Given the description of an element on the screen output the (x, y) to click on. 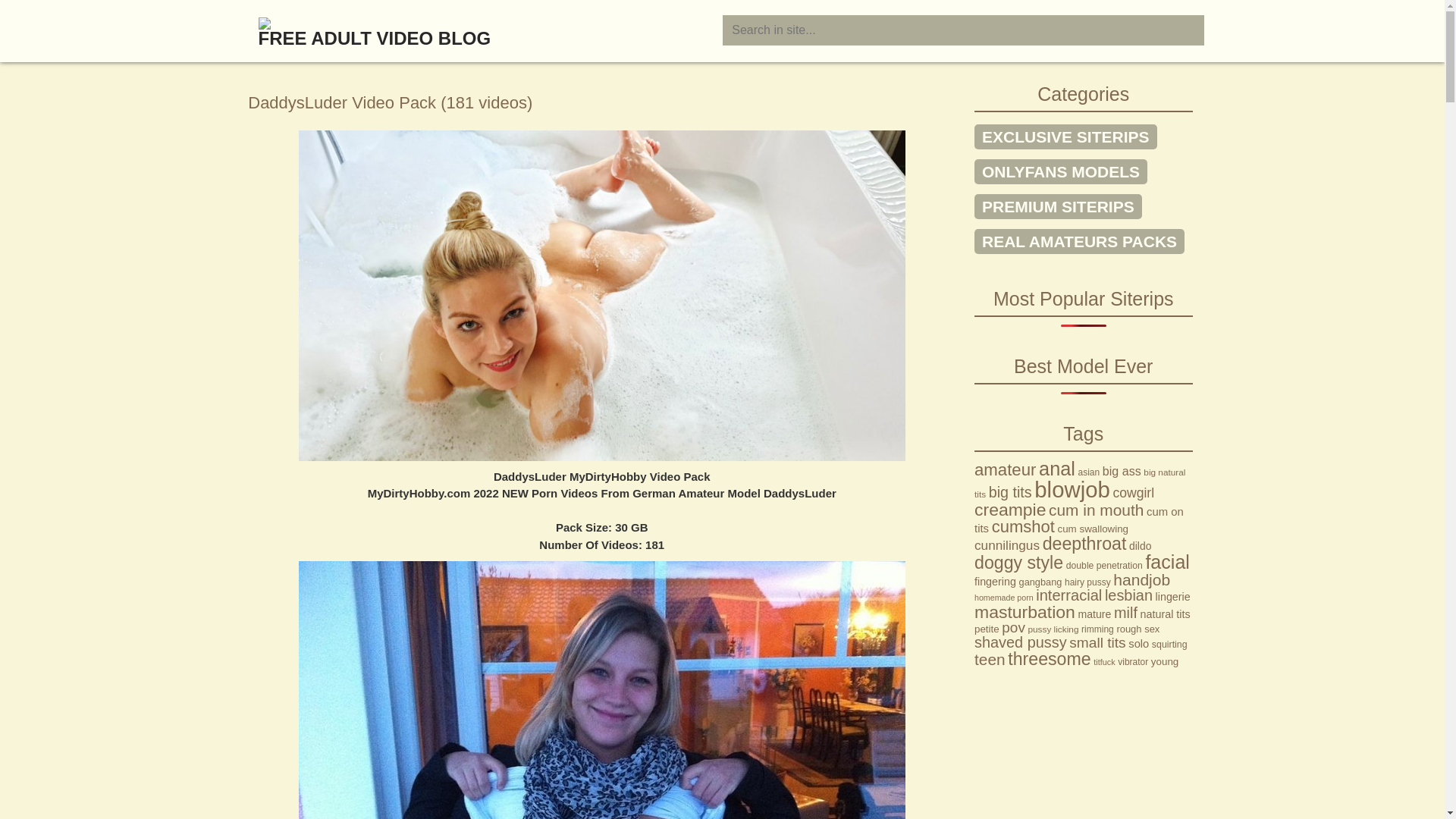
masturbation Element type: text (1024, 611)
solo Element type: text (1138, 643)
cunnilingus Element type: text (1006, 544)
interracial Element type: text (1068, 594)
vibrator Element type: text (1132, 661)
cum on tits Element type: text (1078, 519)
hairy pussy Element type: text (1087, 582)
lingerie Element type: text (1172, 596)
EXCLUSIVE SITERIPS Element type: text (1065, 136)
doggy style Element type: text (1018, 562)
cumshot Element type: text (1022, 526)
big natural tits Element type: text (1079, 483)
homemade porn Element type: text (1003, 597)
mature Element type: text (1093, 614)
gangbang Element type: text (1040, 581)
PREMIUM SITERIPS Element type: text (1058, 206)
threesome Element type: text (1048, 658)
rough sex Element type: text (1137, 628)
cum in mouth Element type: text (1095, 509)
squirting Element type: text (1169, 644)
big ass Element type: text (1121, 470)
asian Element type: text (1089, 472)
cum swallowing Element type: text (1092, 528)
titfuck Element type: text (1103, 661)
petite Element type: text (986, 628)
REAL AMATEURS PACKS Element type: text (1079, 241)
blowjob Element type: text (1071, 489)
lesbian Element type: text (1128, 594)
pov Element type: text (1013, 627)
shaved pussy Element type: text (1020, 641)
facial Element type: text (1167, 561)
rimming Element type: text (1097, 629)
handjob Element type: text (1141, 579)
cowgirl Element type: text (1133, 492)
big tits Element type: text (1010, 491)
milf Element type: text (1125, 612)
anal Element type: text (1056, 468)
dildo Element type: text (1140, 545)
young Element type: text (1164, 661)
amateur Element type: text (1004, 469)
double penetration Element type: text (1104, 565)
creampie Element type: text (1009, 509)
ONLYFANS MODELS Element type: text (1060, 171)
FREE ADULT VIDEO BLOG Element type: text (481, 23)
small tits Element type: text (1097, 642)
natural tits Element type: text (1165, 614)
teen Element type: text (989, 659)
deepthroat Element type: text (1084, 543)
pussy licking Element type: text (1052, 629)
fingering Element type: text (995, 581)
